Given the description of an element on the screen output the (x, y) to click on. 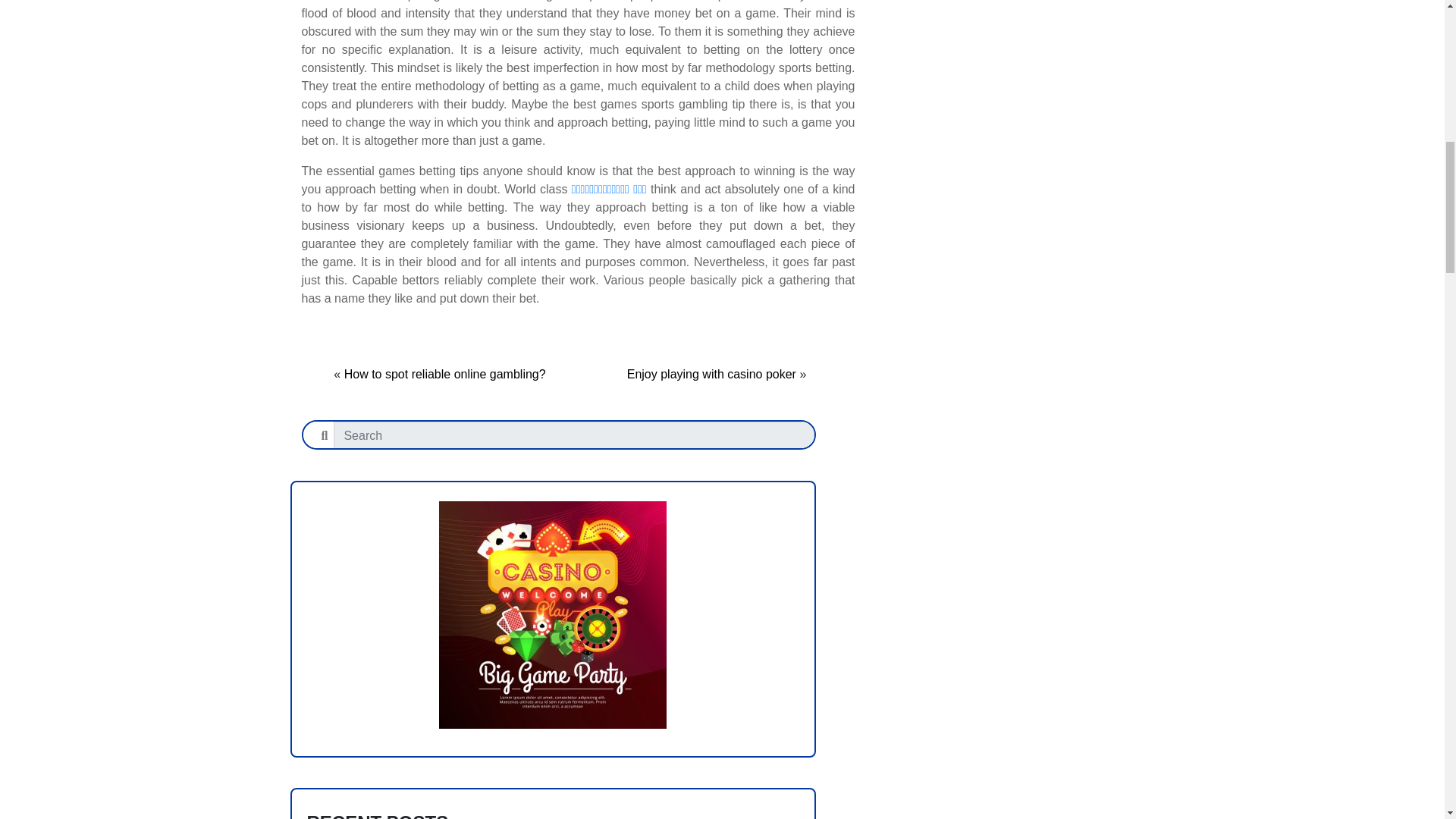
How to spot reliable online gambling? (444, 373)
Enjoy playing with casino poker (711, 373)
